Given the description of an element on the screen output the (x, y) to click on. 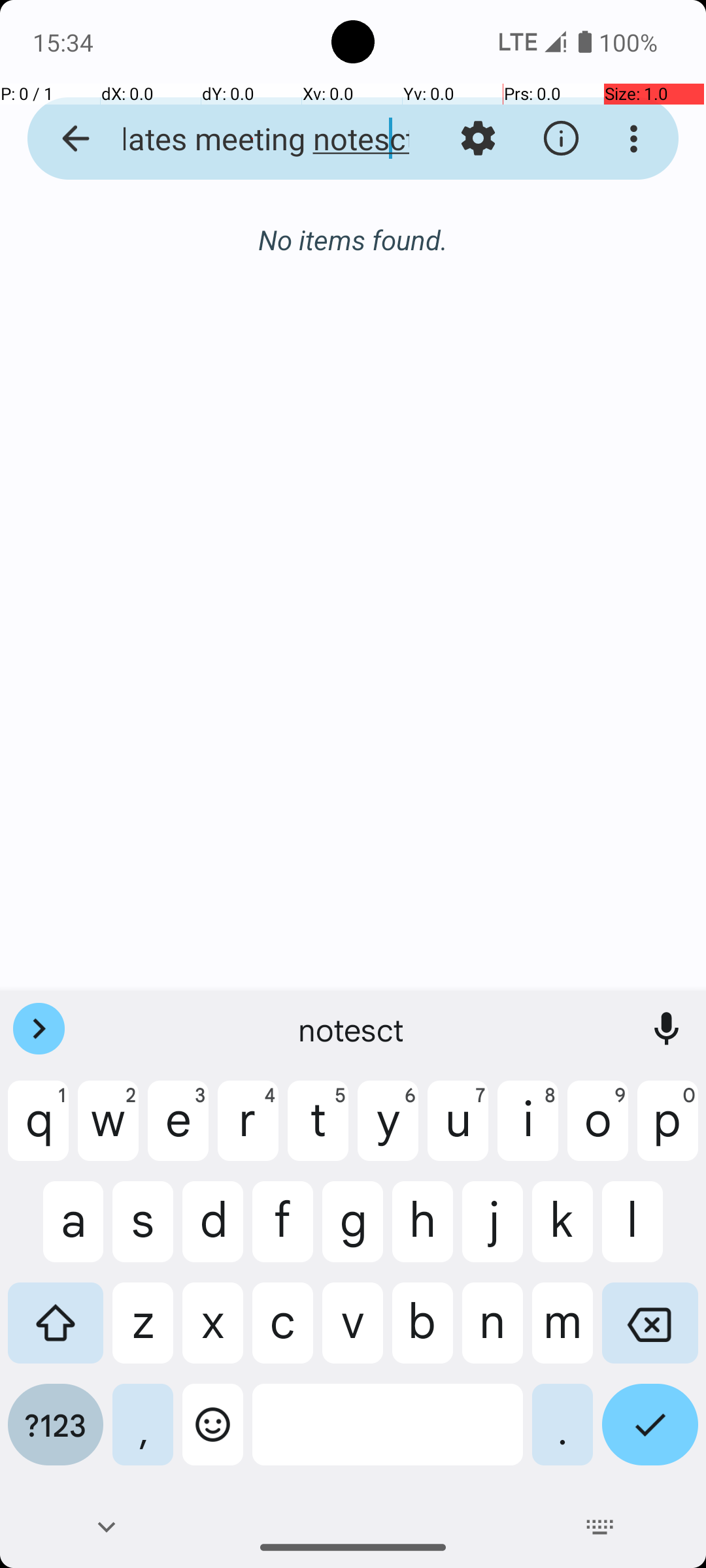
"meeting projeproject updates meeting notesct updatesnotes" Element type: android.widget.EditText (252, 138)
notesct Element type: android.widget.FrameLayout (352, 1028)
